Given the description of an element on the screen output the (x, y) to click on. 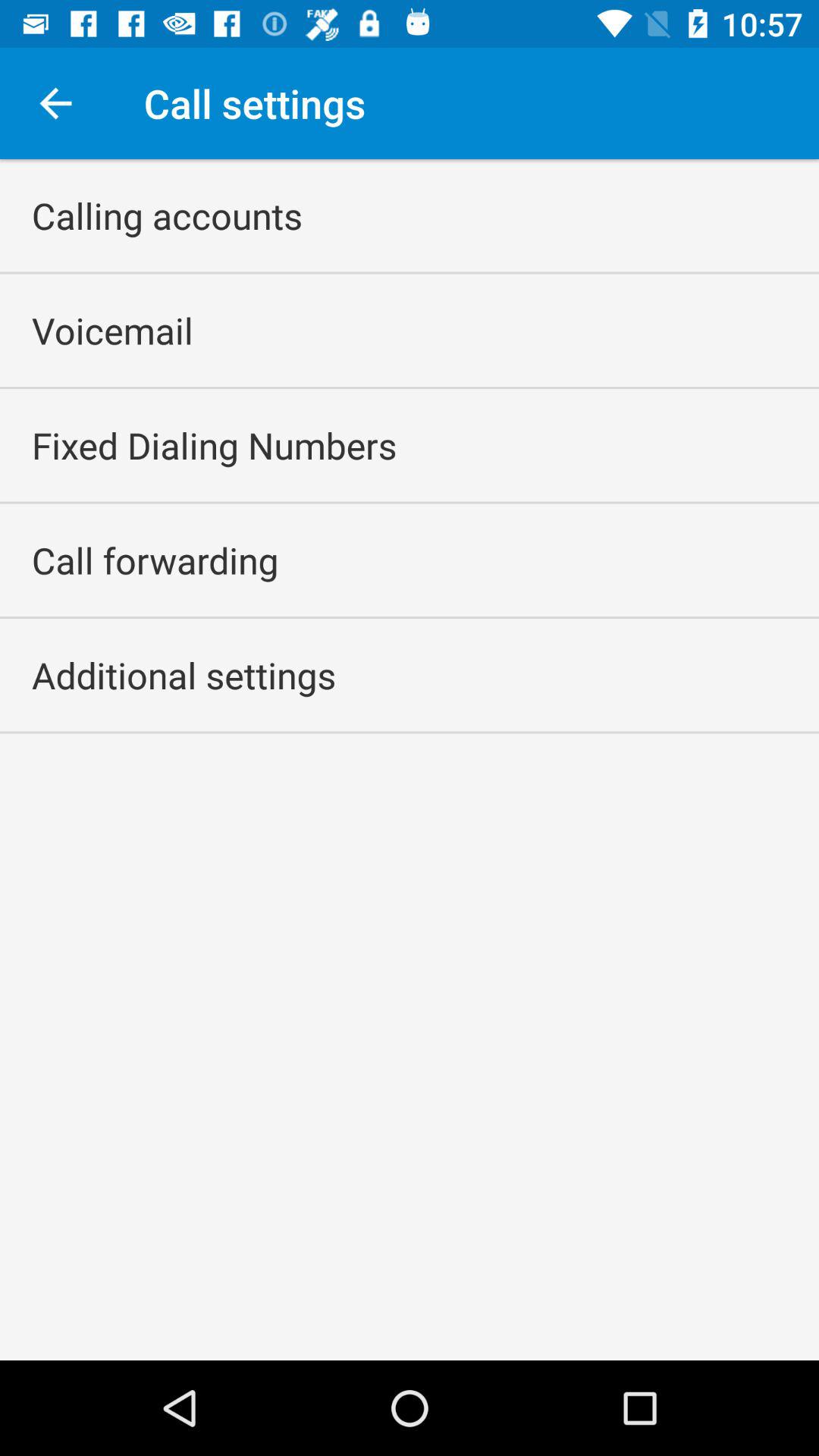
select icon below the fixed dialing numbers icon (154, 559)
